Given the description of an element on the screen output the (x, y) to click on. 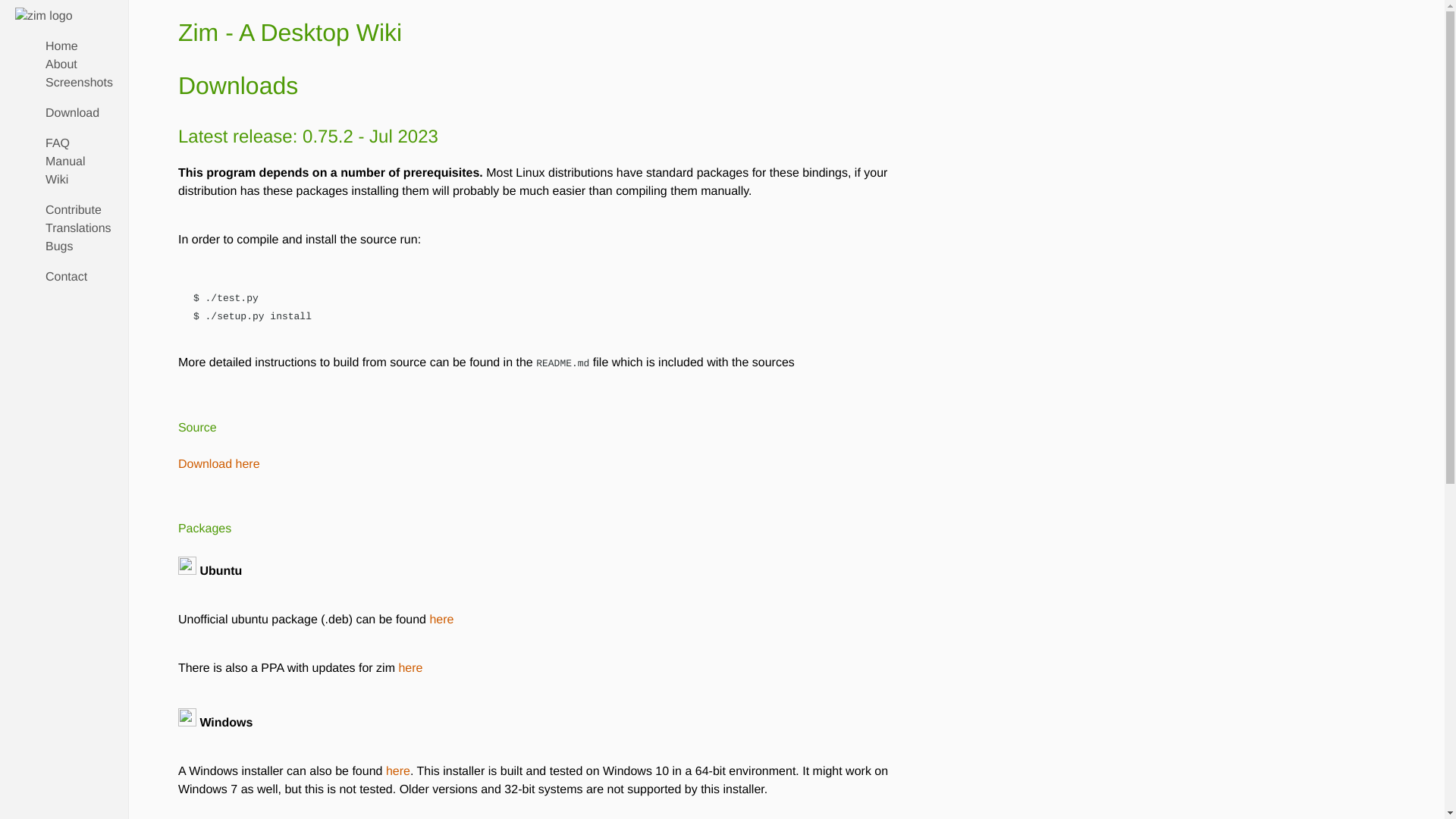
here (409, 667)
Bugs (58, 246)
Wiki (56, 179)
FAQ (57, 143)
here (409, 667)
Contribute (73, 210)
Manual (64, 161)
Home (61, 46)
About (61, 64)
here (397, 771)
